Given the description of an element on the screen output the (x, y) to click on. 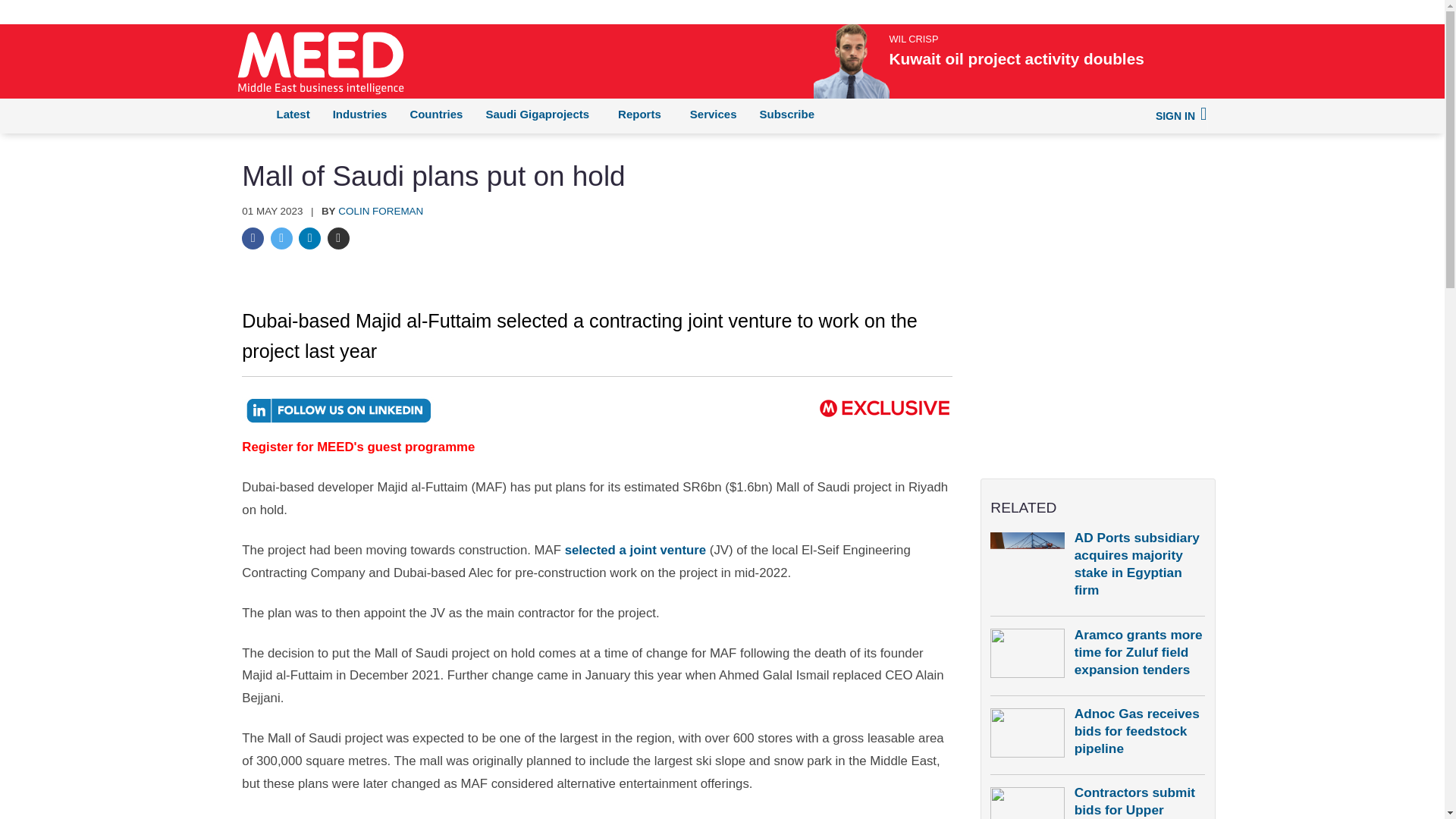
Industries (360, 114)
Countries (436, 114)
Latest (292, 114)
Kuwait oil project activity doubles (1077, 58)
